Given the description of an element on the screen output the (x, y) to click on. 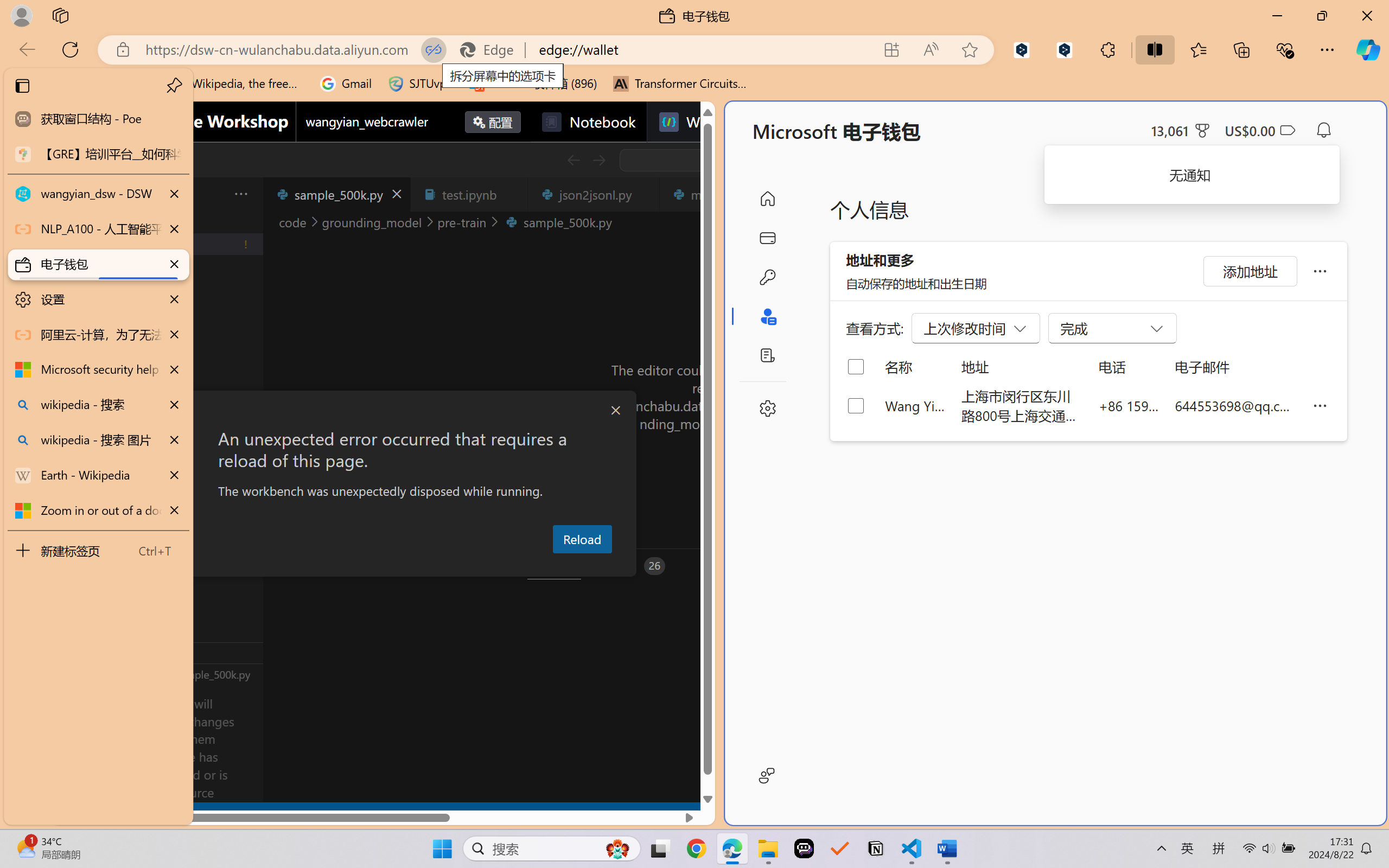
Explorer Section: wangyian (179, 221)
Tab actions (644, 194)
Go Forward (Alt+RightArrow) (598, 159)
remote (66, 812)
Notebook (588, 121)
Extensions (Ctrl+Shift+X) (73, 422)
Timeline Section (179, 673)
